Given the description of an element on the screen output the (x, y) to click on. 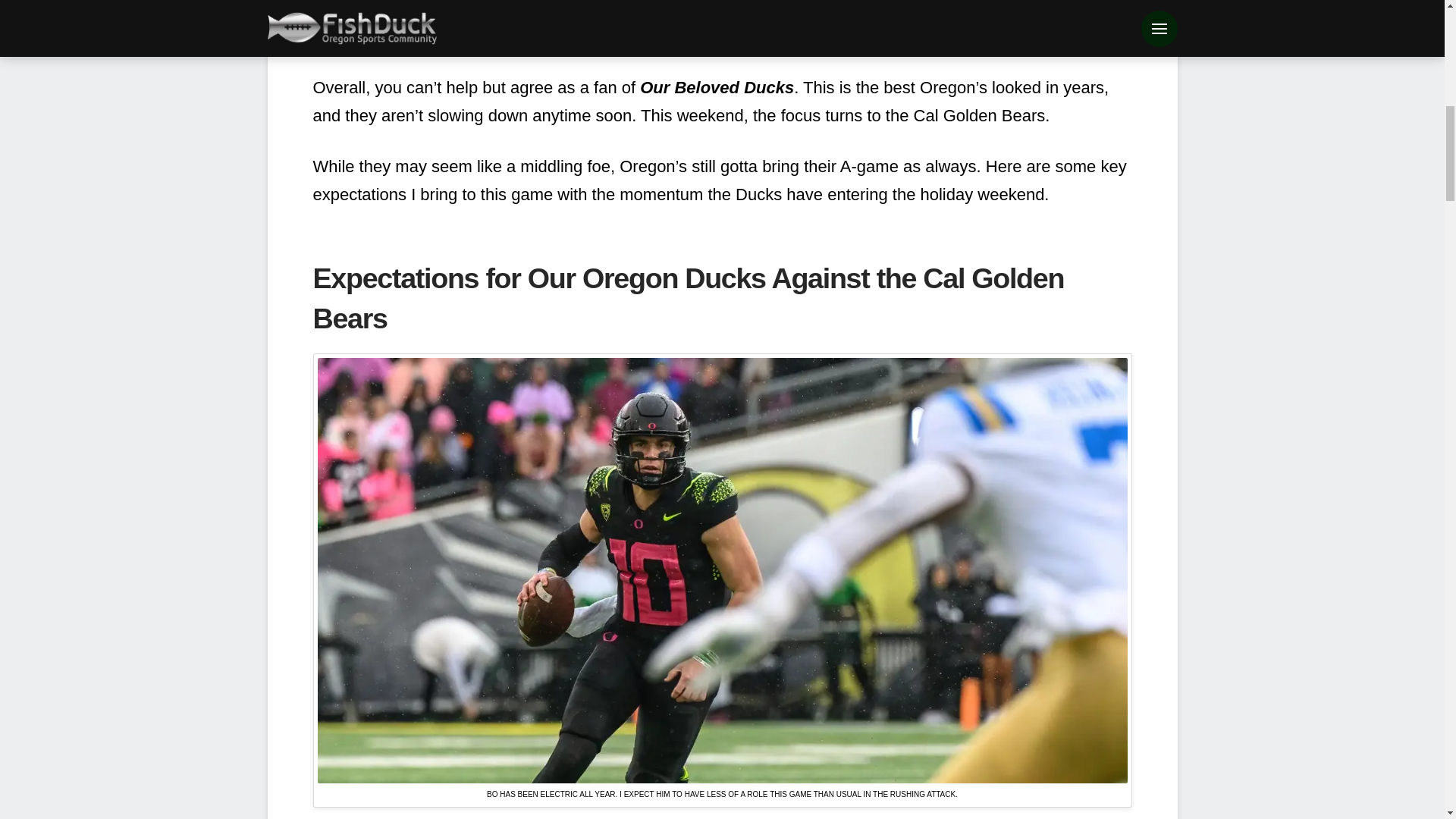
most improved squad (962, 9)
